Given the description of an element on the screen output the (x, y) to click on. 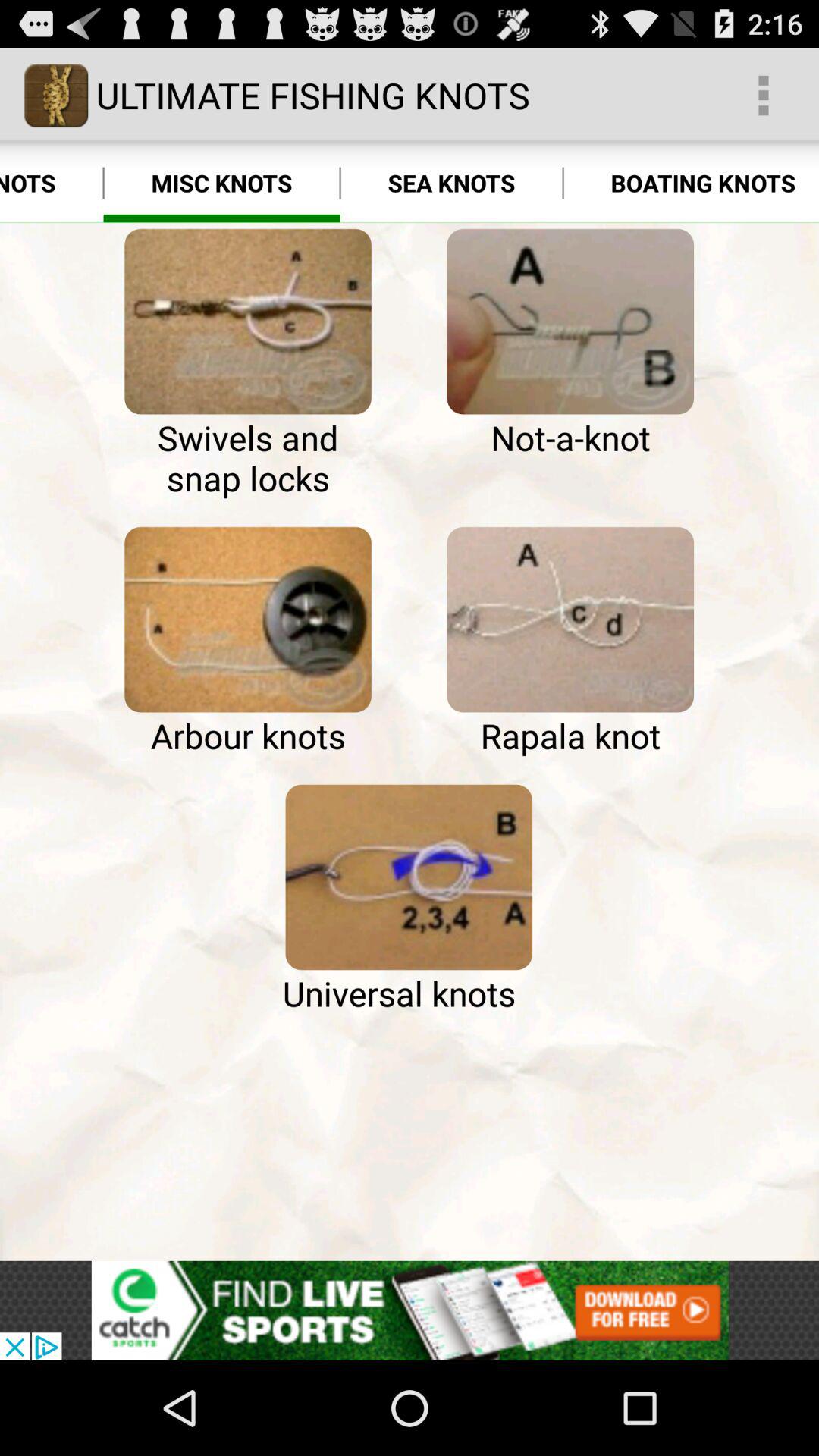
turn off the app next to misc knots (451, 182)
